Given the description of an element on the screen output the (x, y) to click on. 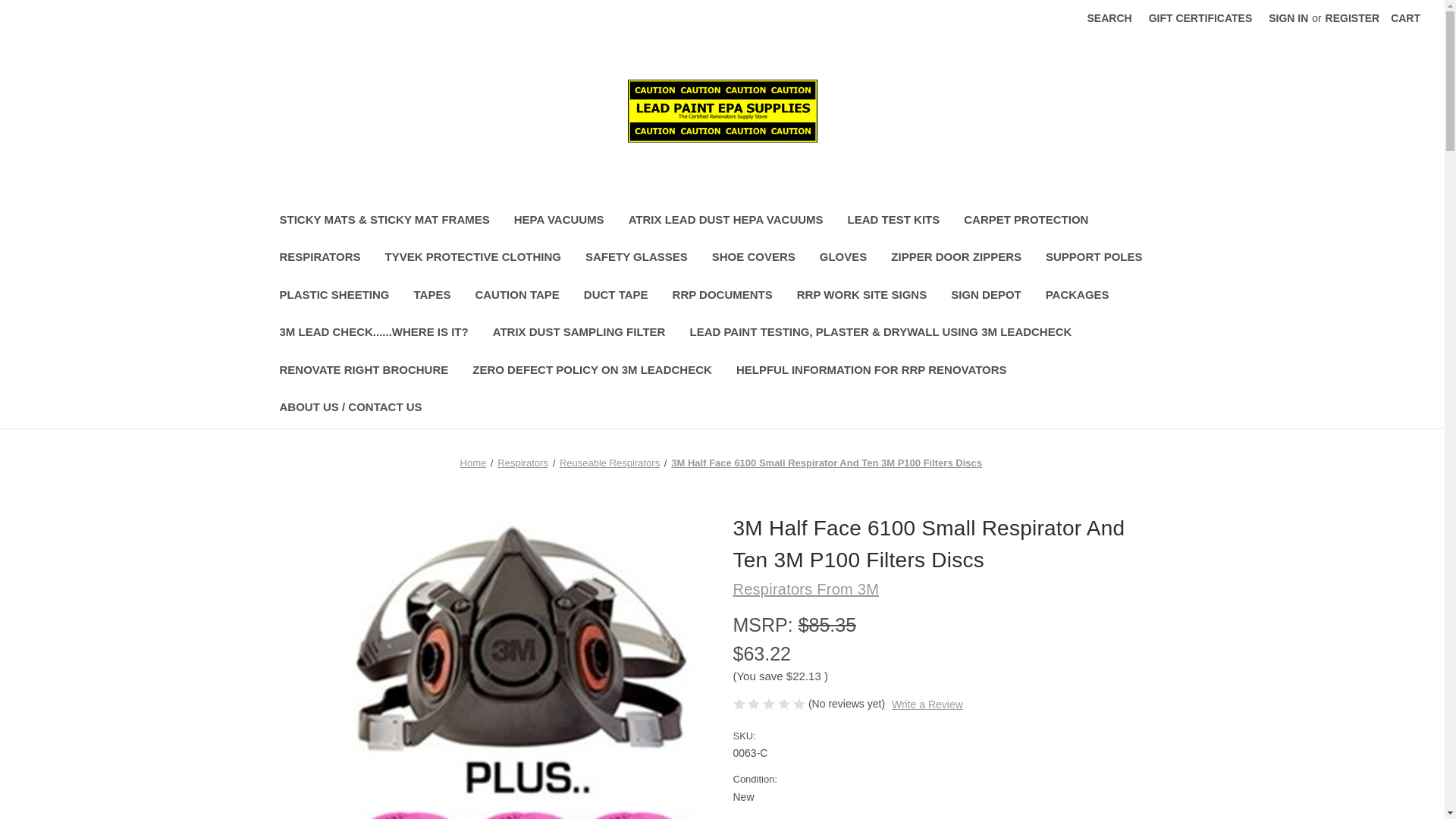
GLOVES (843, 258)
GIFT CERTIFICATES (1200, 18)
CART (1404, 18)
Home (473, 462)
TAPES (432, 296)
HEPA VACUUMS (558, 221)
CAUTION TAPE (516, 296)
ATRIX DUST SAMPLING FILTER (579, 333)
ZERO DEFECT POLICY ON 3M LEADCHECK (591, 371)
TYVEK PROTECTIVE CLOTHING (472, 258)
HELPFUL INFORMATION FOR RRP RENOVATORS (871, 371)
ATRIX LEAD DUST HEPA VACUUMS (725, 221)
ZIPPER DOOR ZIPPERS (956, 258)
LEAD TEST KITS (893, 221)
RENOVATE RIGHT BROCHURE (363, 371)
